Given the description of an element on the screen output the (x, y) to click on. 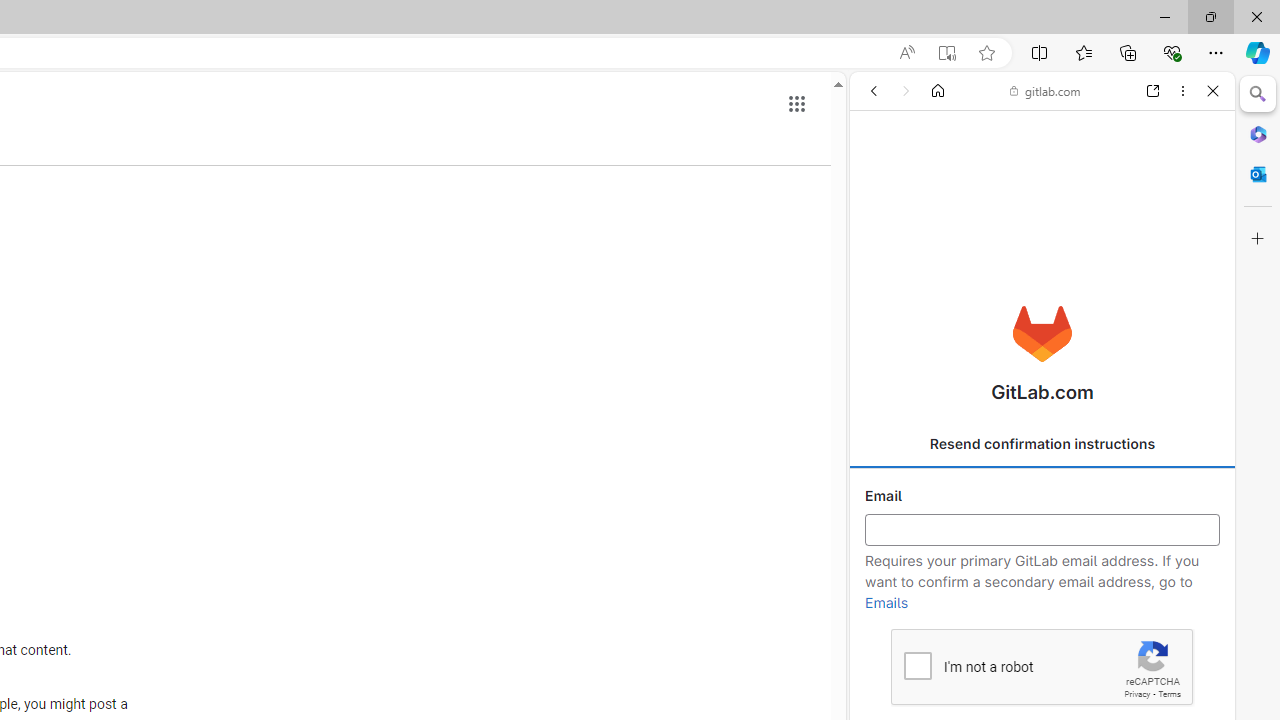
About GitLab (1042, 592)
Close Search pane (1258, 94)
I'm not a robot (916, 664)
Register Now (1042, 445)
Confirmation Page (1042, 690)
About GitLab (1042, 592)
